Given the description of an element on the screen output the (x, y) to click on. 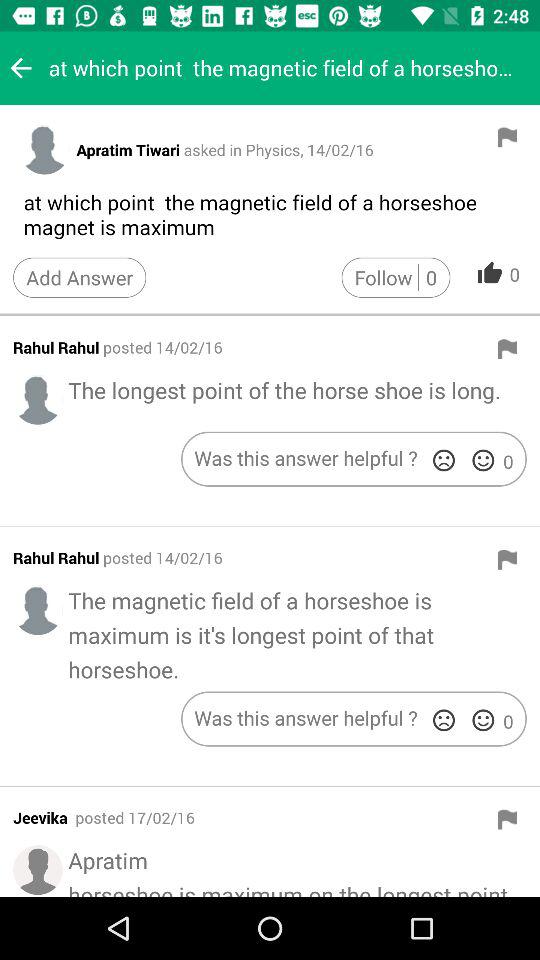
go back (21, 68)
